Given the description of an element on the screen output the (x, y) to click on. 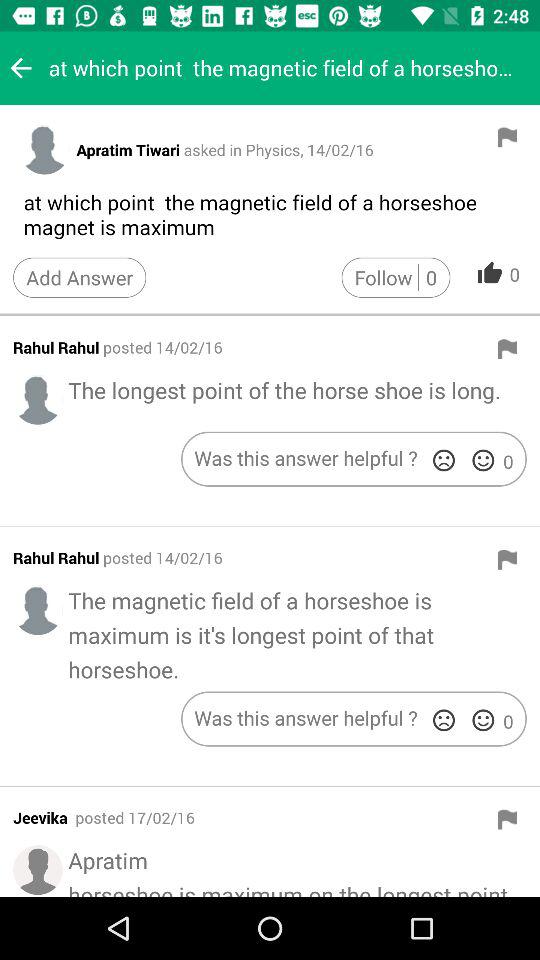
go back (21, 68)
